Given the description of an element on the screen output the (x, y) to click on. 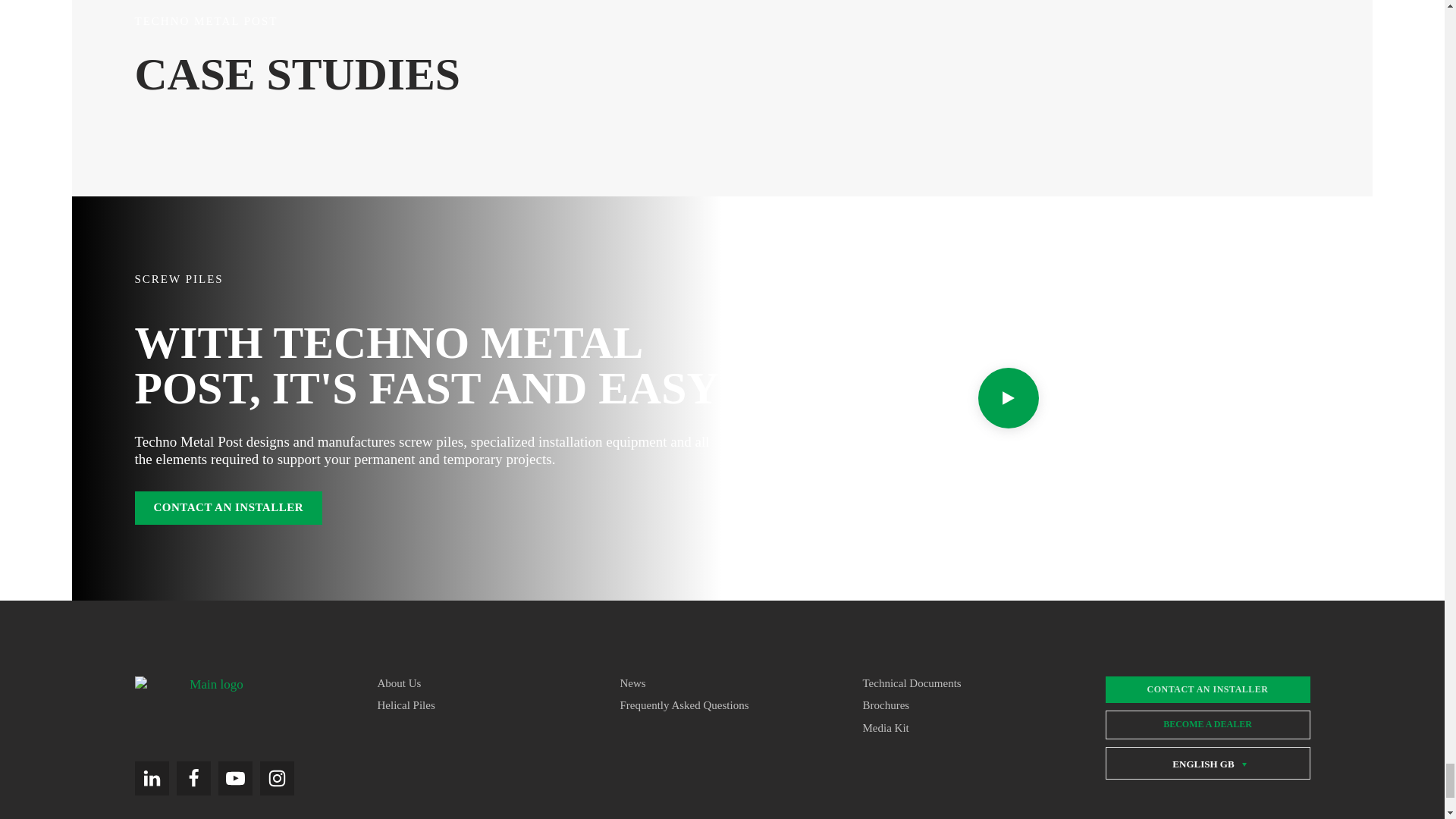
LinkedIn (151, 778)
YouTube (234, 778)
Instagram (276, 778)
Facebook (192, 778)
